Given the description of an element on the screen output the (x, y) to click on. 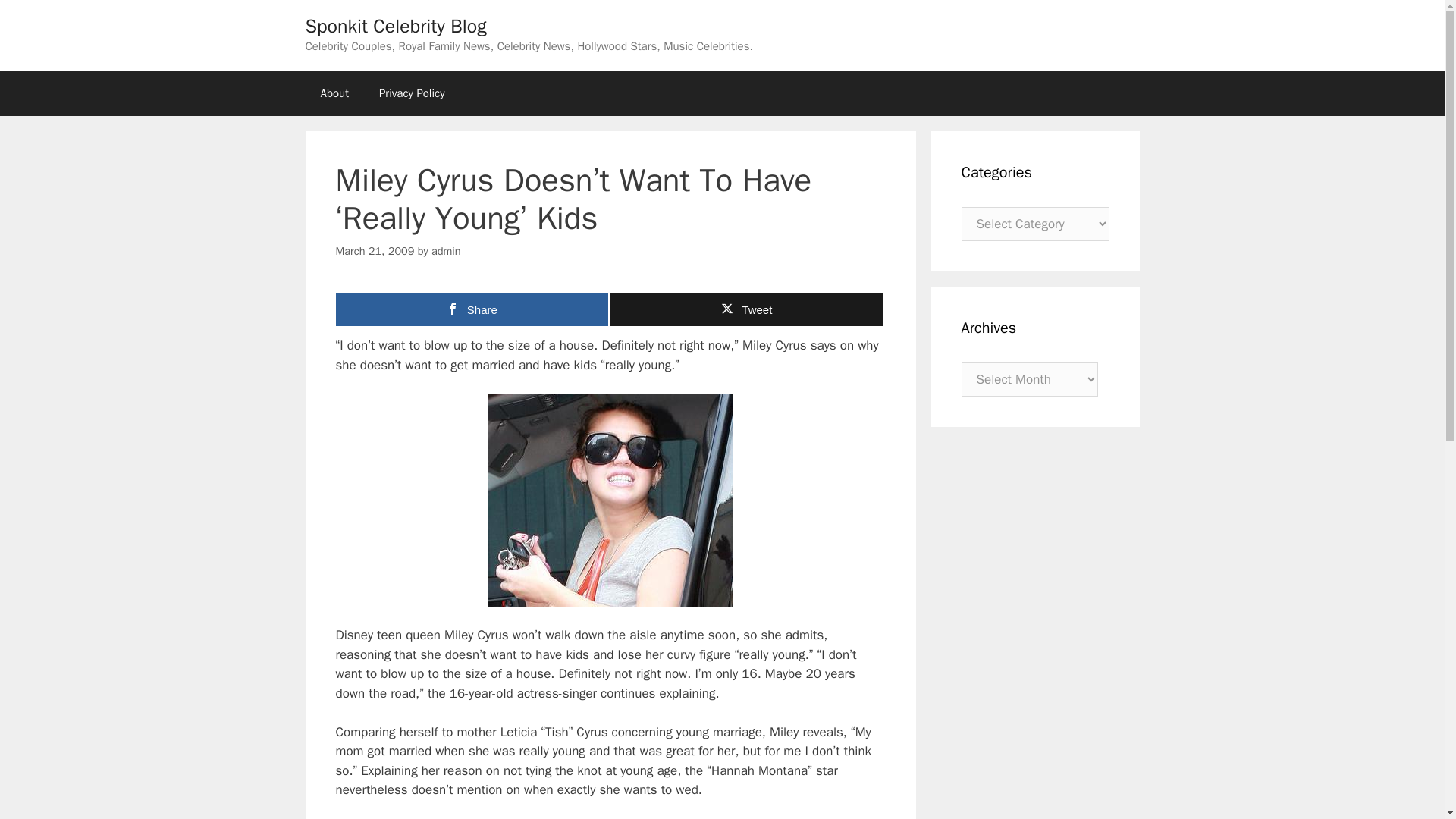
Share (471, 308)
About (333, 92)
Privacy Policy (412, 92)
admin (445, 250)
Tweet (746, 308)
Sponkit Celebrity Blog (395, 25)
Miley Cyrus Doesn't Want To Have 'Really Young' Kids (609, 499)
View all posts by admin (445, 250)
